Given the description of an element on the screen output the (x, y) to click on. 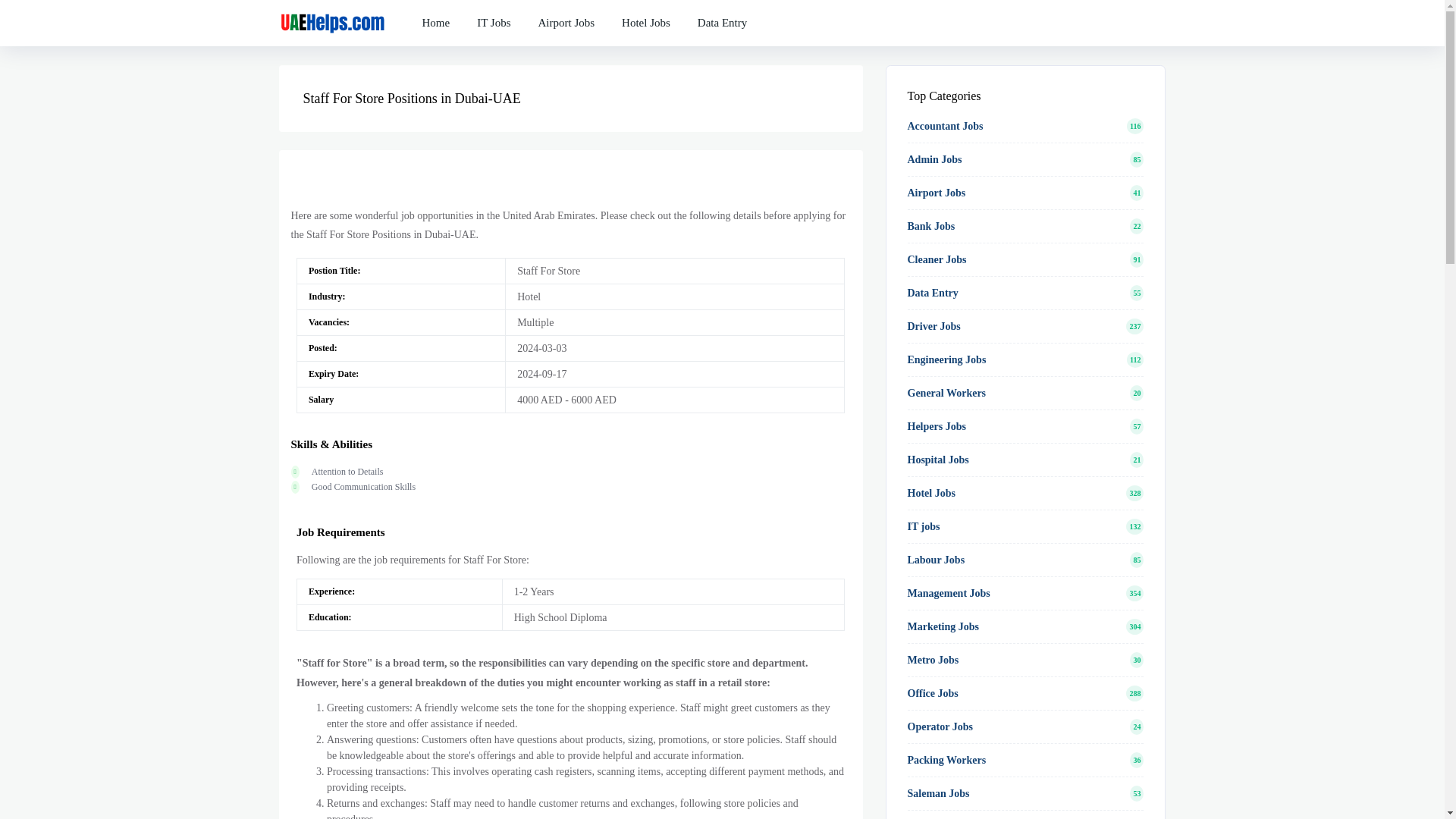
Hotel Jobs (646, 14)
Data Entry (722, 15)
Declaimer (566, 22)
Term and Conditions (646, 22)
Home (435, 4)
IT Jobs (493, 8)
Airport Jobs (566, 11)
